Given the description of an element on the screen output the (x, y) to click on. 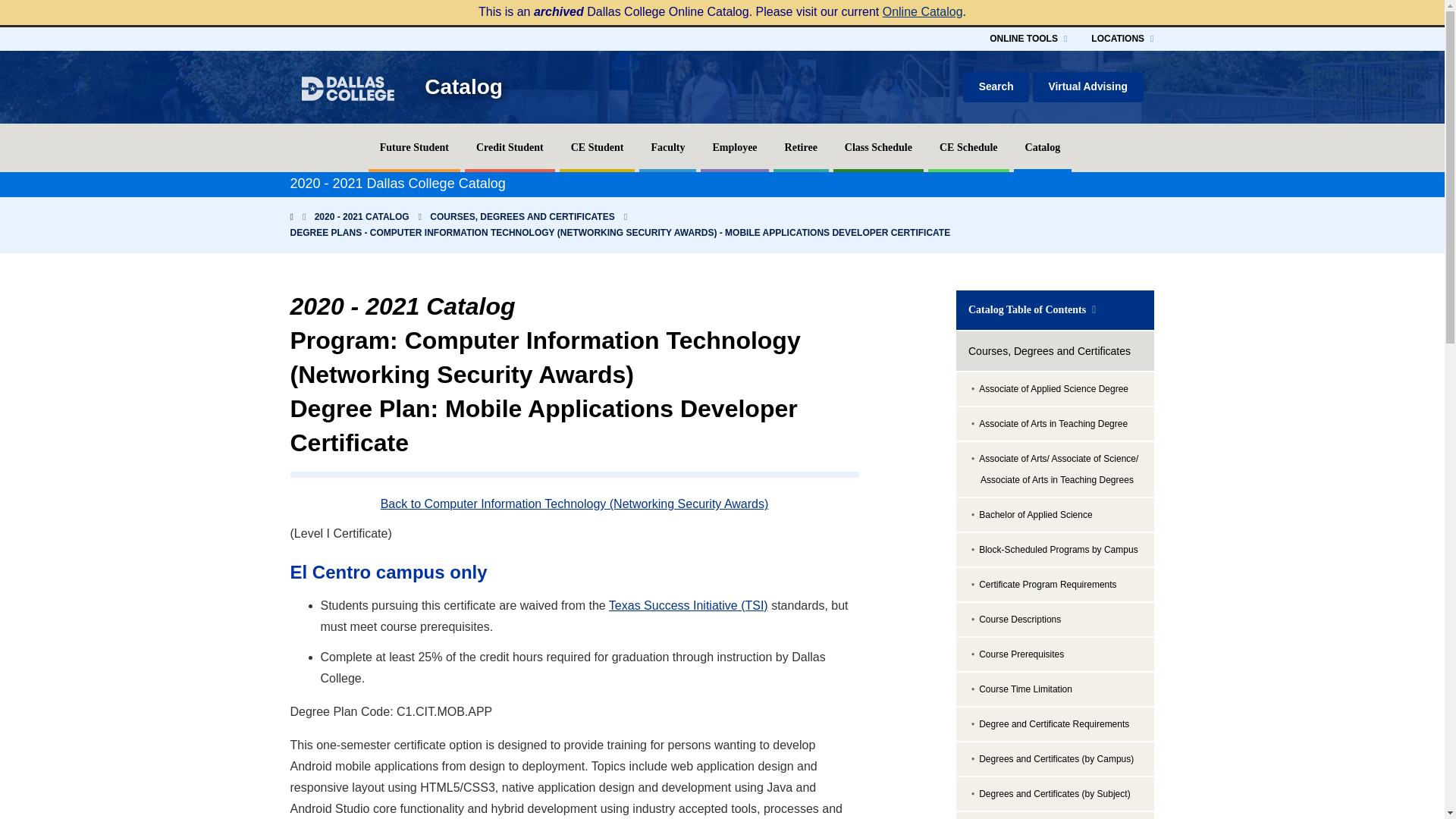
Class Schedule (877, 147)
LOCATIONS (1122, 38)
Catalog (1042, 147)
Virtual Advising (1087, 87)
Retiree (800, 147)
Employee (734, 147)
Faculty (667, 147)
CE Student (596, 147)
Credit Student (509, 147)
Future Student (414, 147)
ONLINE TOOLS (1027, 38)
Online Catalog (922, 11)
Search (995, 87)
CE Schedule (968, 147)
Catalog (463, 86)
